Given the description of an element on the screen output the (x, y) to click on. 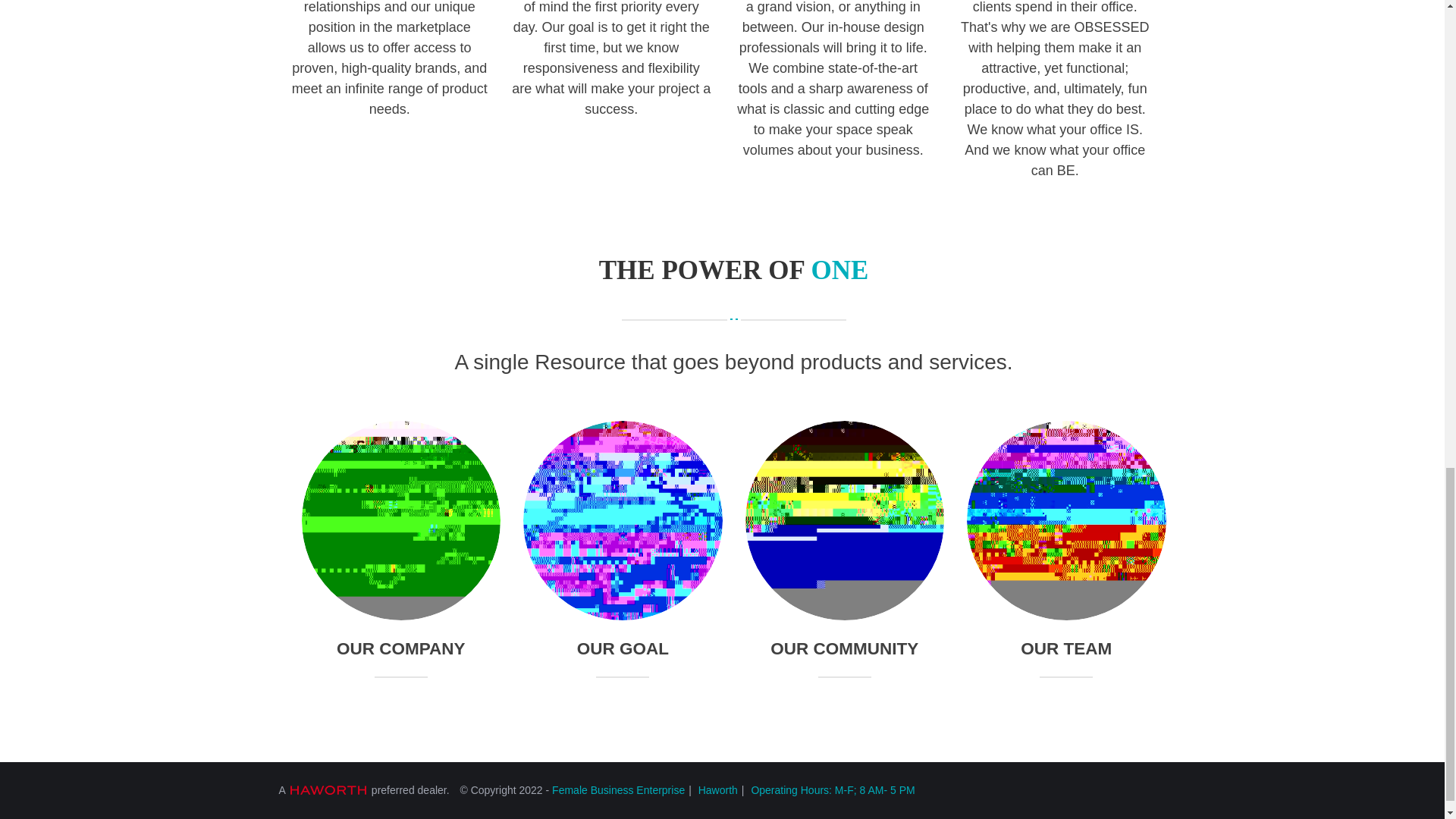
Haworth (721, 790)
Operating Hours: M-F; 8 AM- 5 PM (832, 790)
Female Business Enterprise (621, 790)
